Given the description of an element on the screen output the (x, y) to click on. 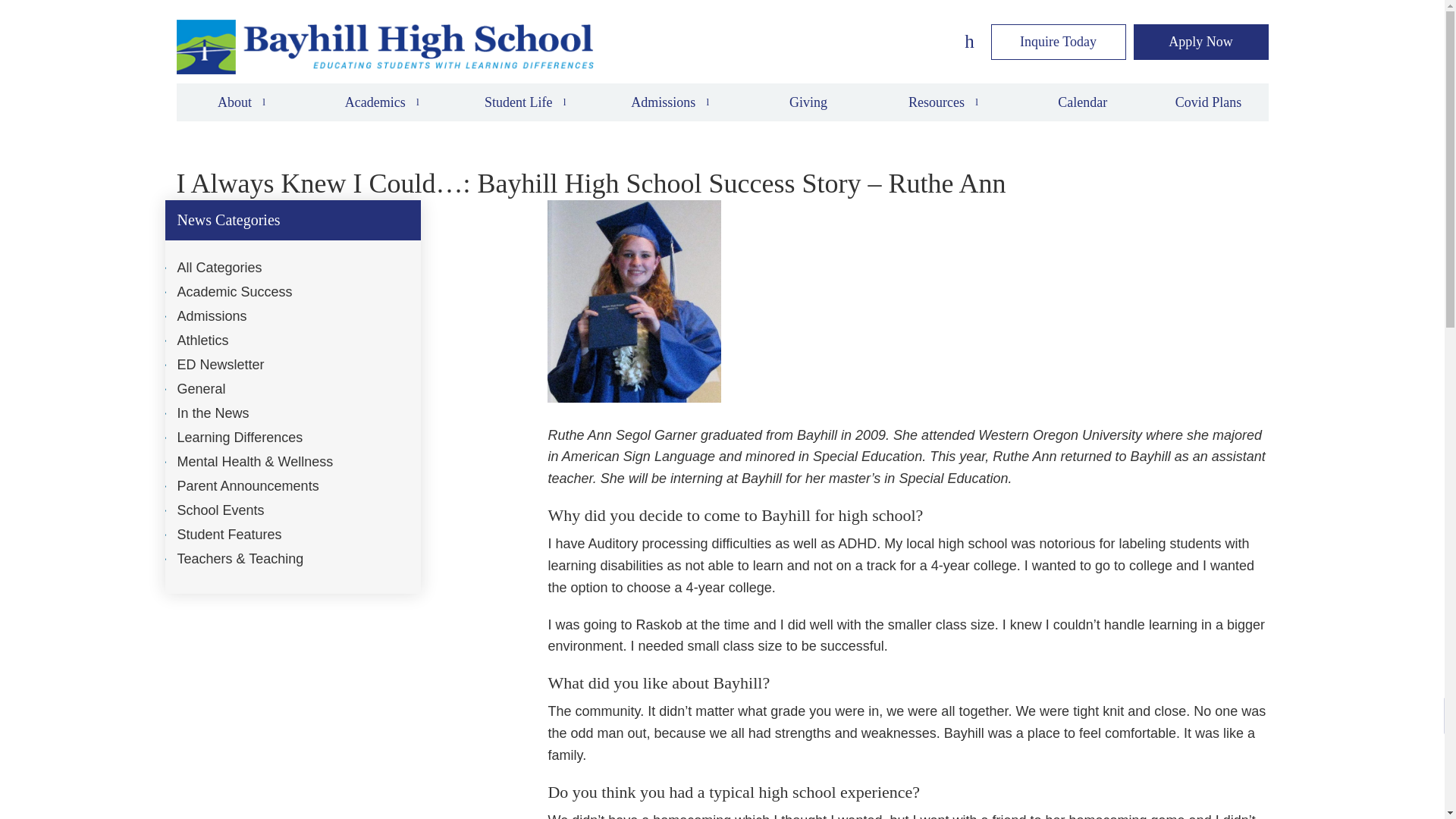
Inquire Today (1057, 41)
Apply Now (1200, 41)
Student Life (525, 102)
Academics (382, 102)
About (240, 102)
